Given the description of an element on the screen output the (x, y) to click on. 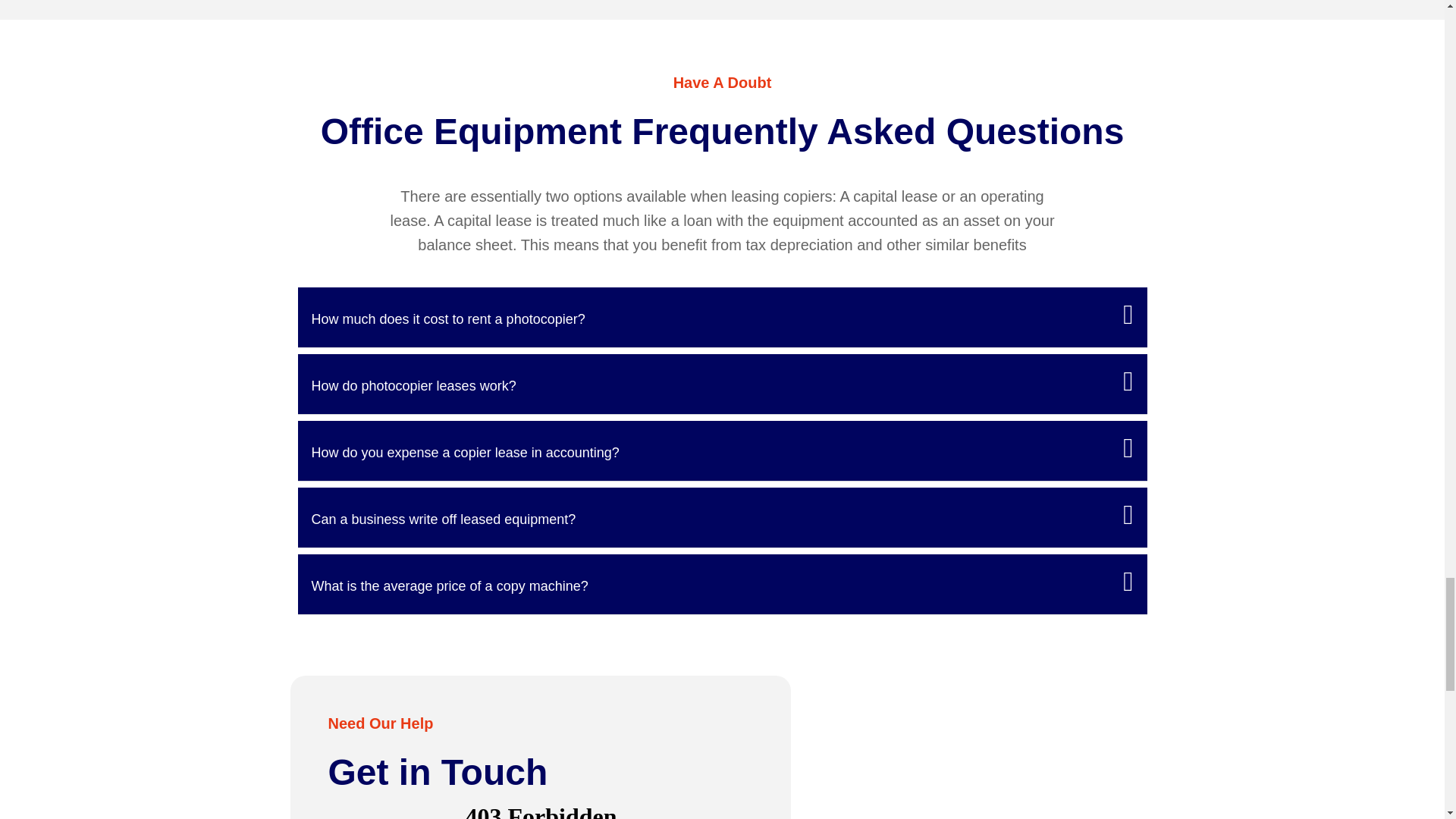
Texas (983, 747)
Quote Form (541, 807)
How much does it cost to rent a photocopier? (448, 319)
